Given the description of an element on the screen output the (x, y) to click on. 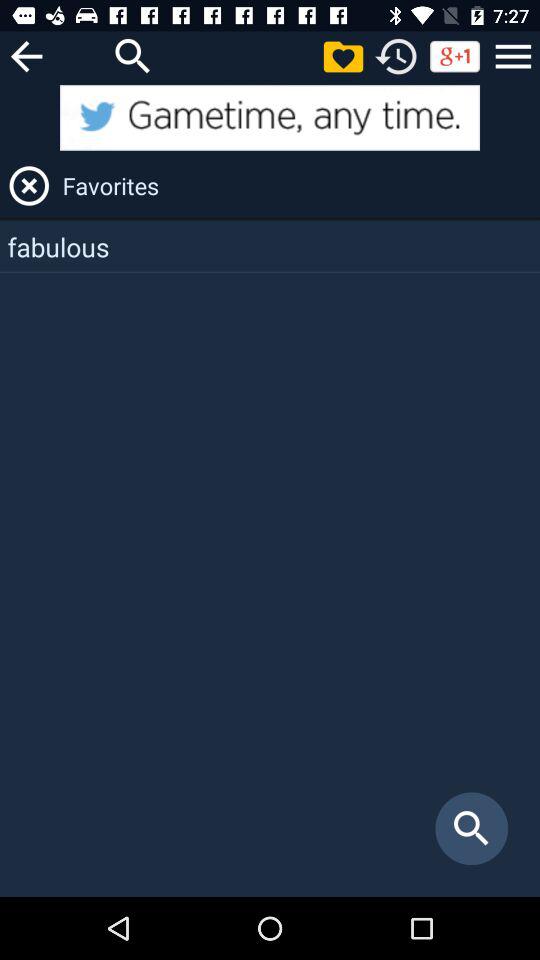
go back (26, 56)
